Given the description of an element on the screen output the (x, y) to click on. 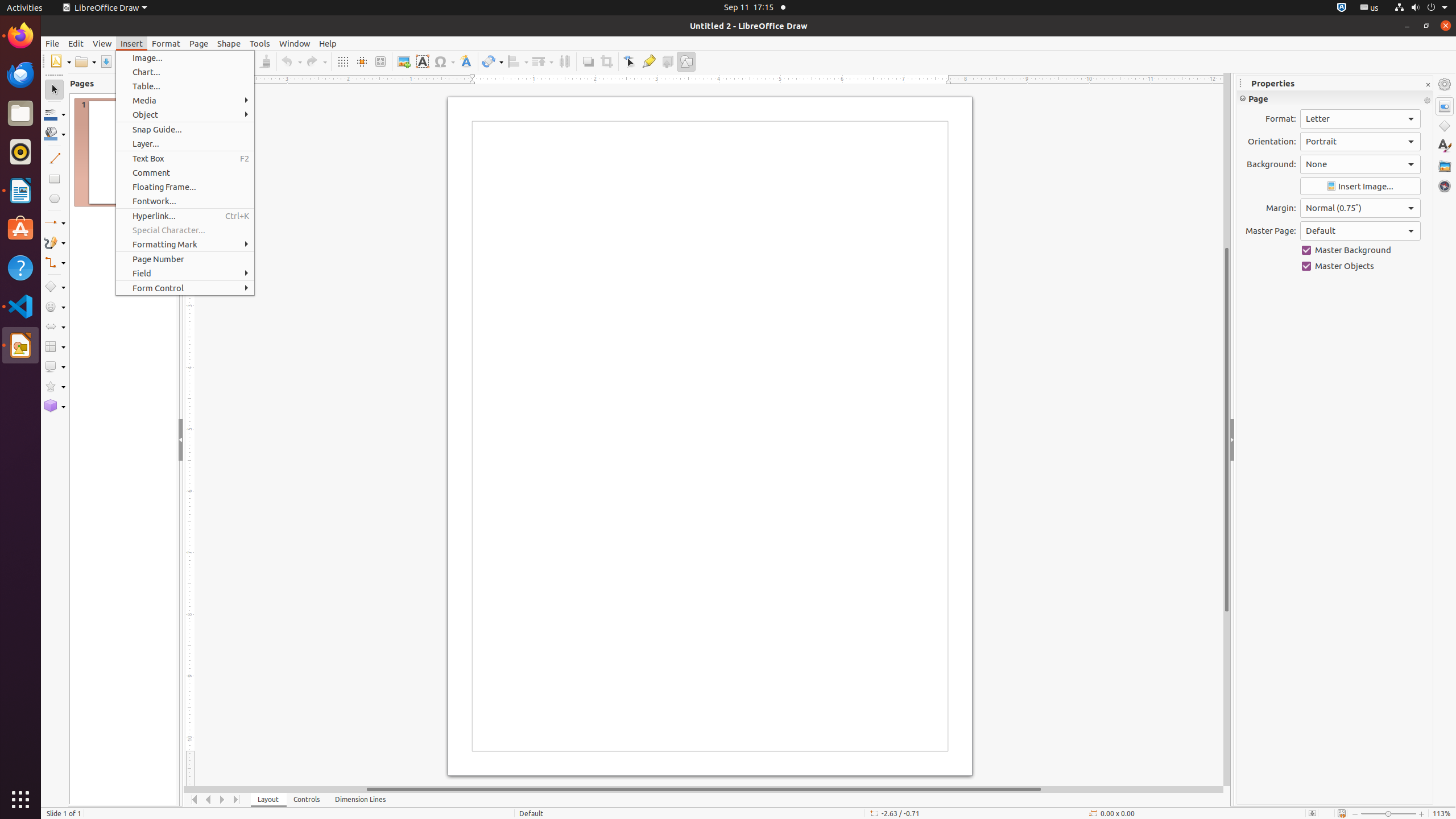
Rhythmbox Element type: push-button (20, 151)
Page Number Element type: menu-item (185, 258)
Field Element type: menu (185, 273)
Line Element type: push-button (53, 158)
Vertical scroll bar Element type: scroll-bar (1226, 429)
